Given the description of an element on the screen output the (x, y) to click on. 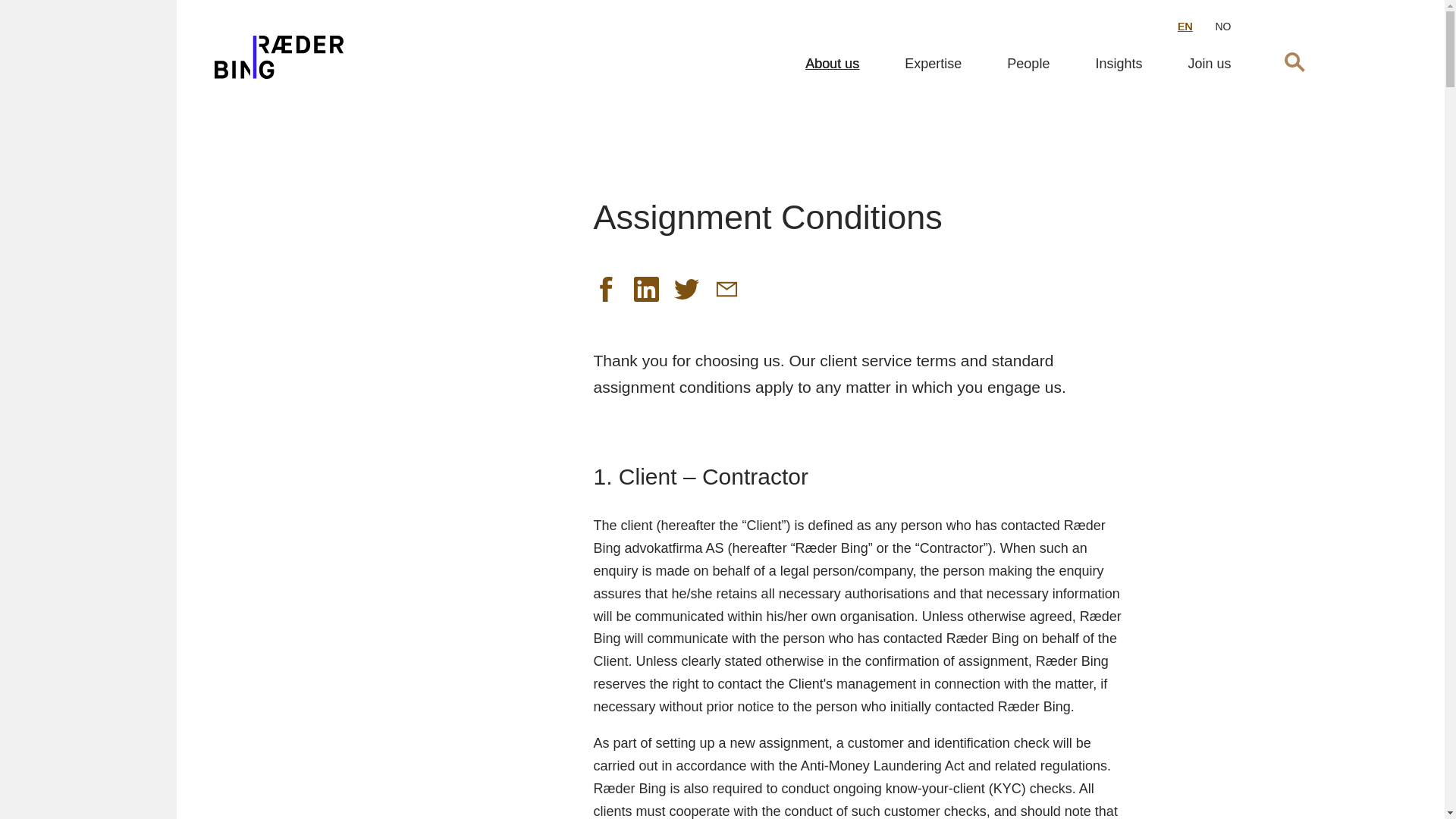
Twitter icon (685, 289)
People (1028, 63)
Join us (1209, 63)
NO (1222, 26)
brev (726, 289)
Insights (1117, 63)
Facebook (604, 289)
EN (1184, 26)
LinkedIn icon (646, 289)
Expertise (932, 63)
